Given the description of an element on the screen output the (x, y) to click on. 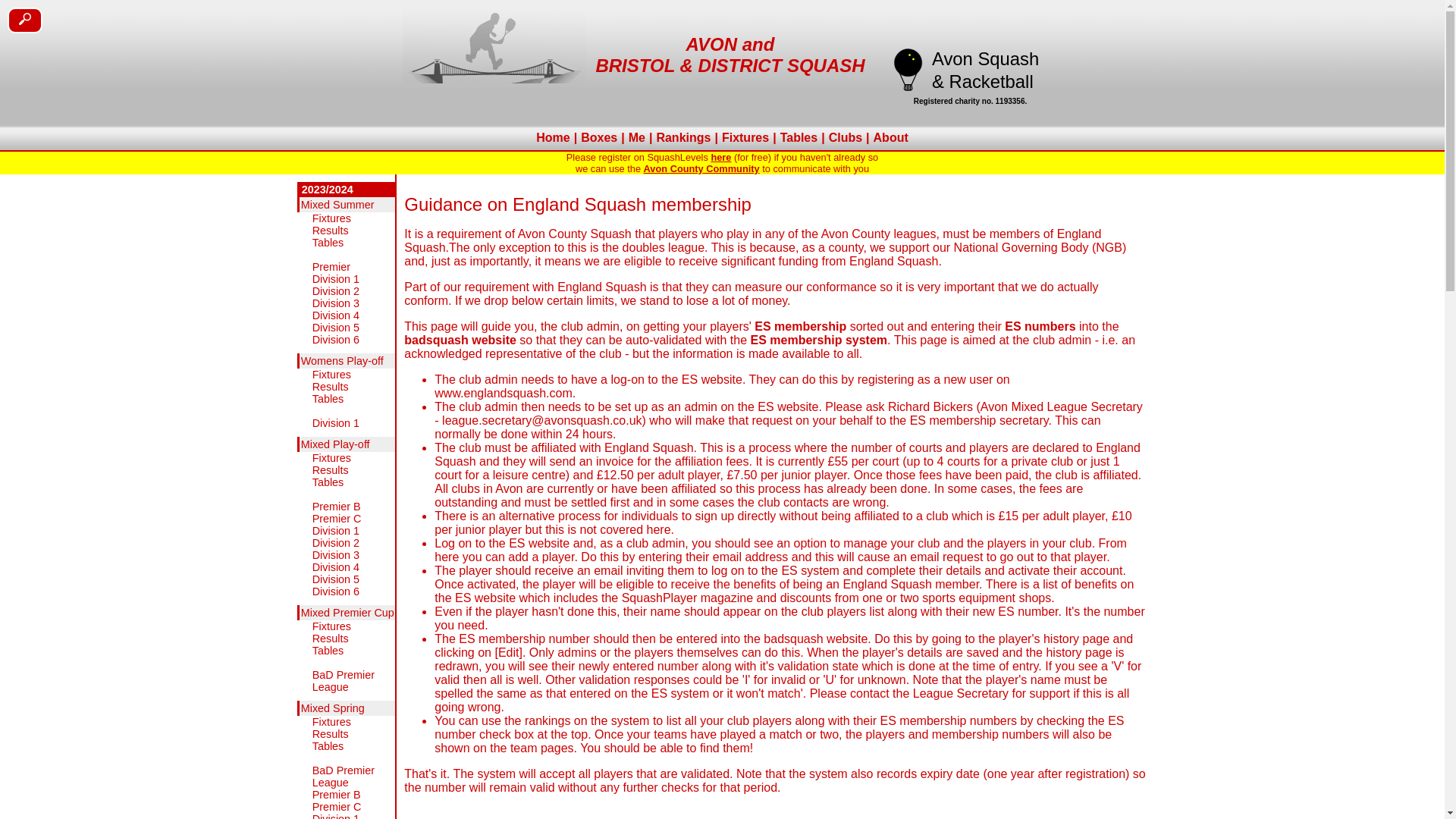
Fixtures (745, 137)
Boxes (598, 137)
Tables (799, 137)
Rankings (683, 137)
Home (552, 137)
Clubs (845, 137)
Me (636, 137)
About (890, 137)
